Given the description of an element on the screen output the (x, y) to click on. 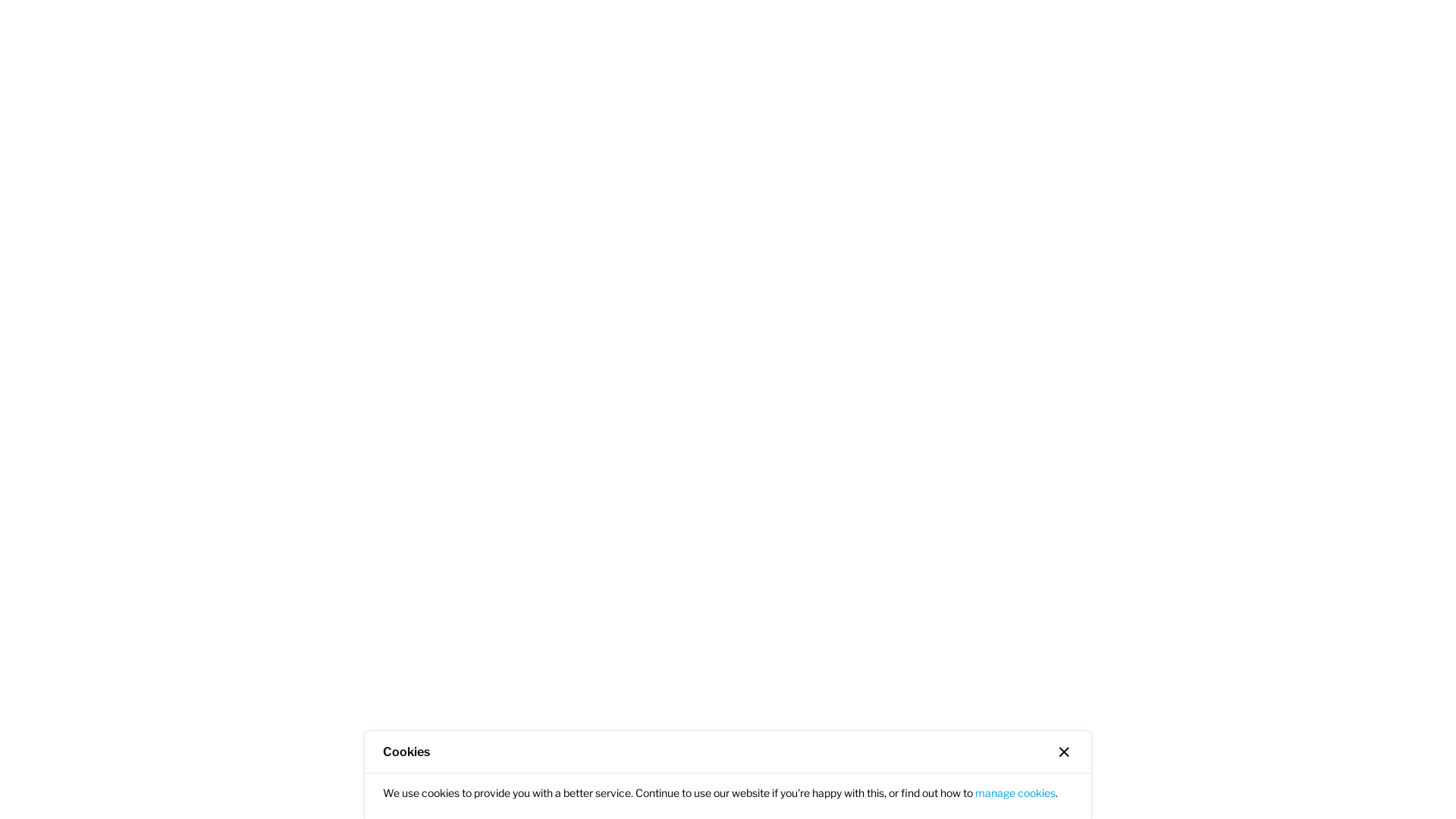
manage cookies Element type: text (1015, 792)
